Given the description of an element on the screen output the (x, y) to click on. 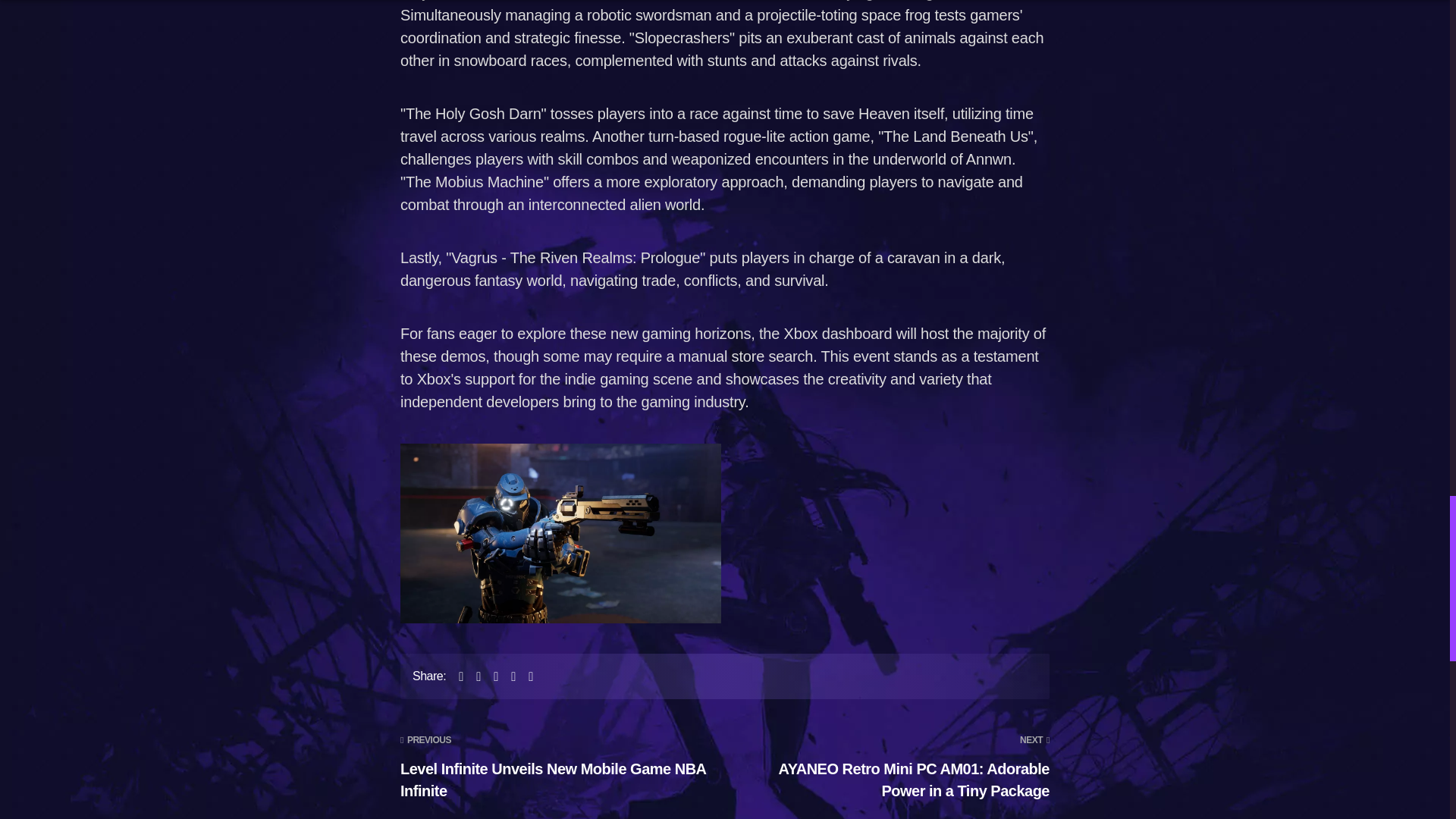
Share on Whatsapp (521, 676)
Share on Twitter (486, 676)
Pin on Pinterest (503, 676)
Mail (538, 676)
Share on Facebook (468, 676)
